Given the description of an element on the screen output the (x, y) to click on. 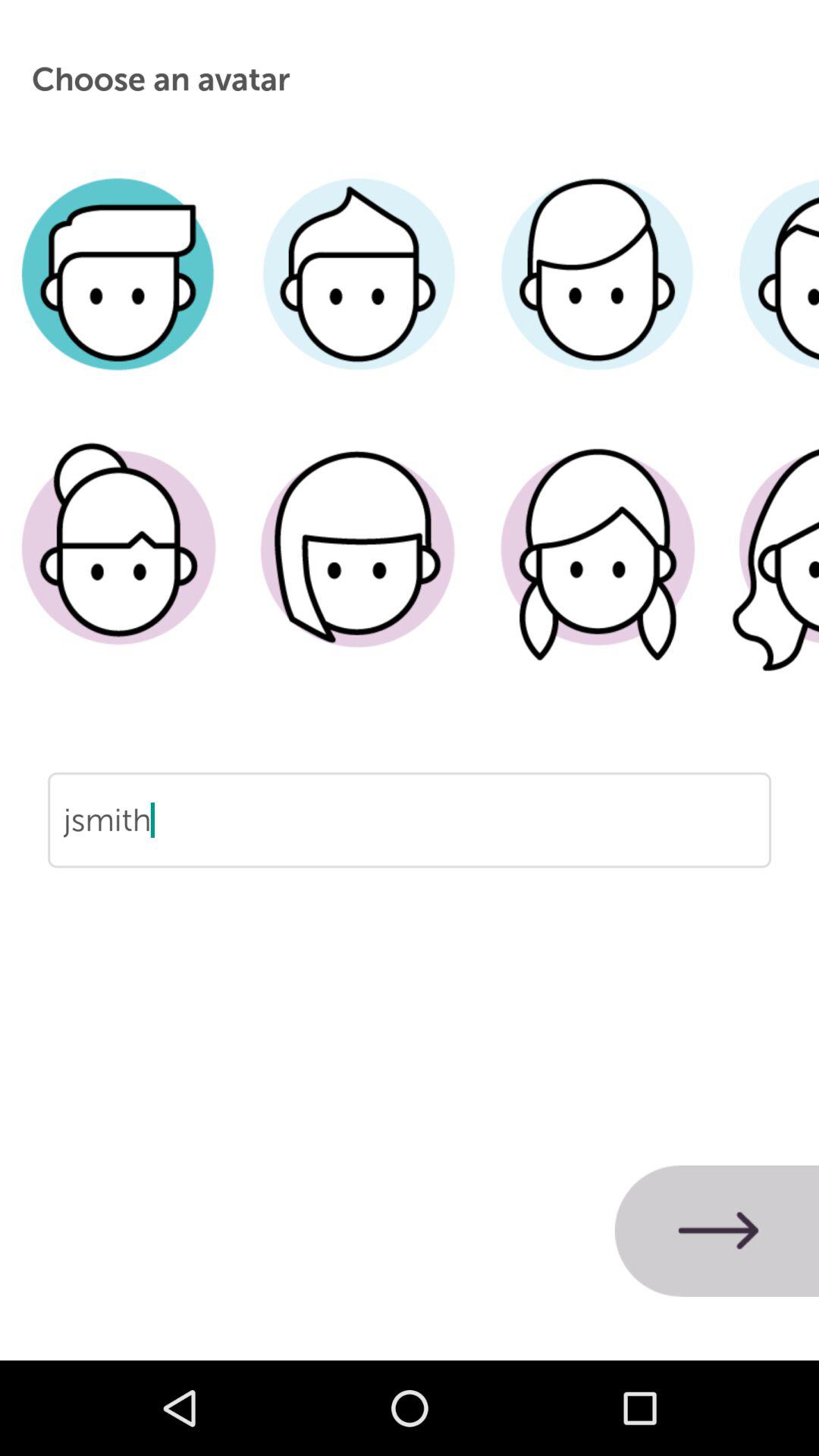
choose avatar option (119, 296)
